Given the description of an element on the screen output the (x, y) to click on. 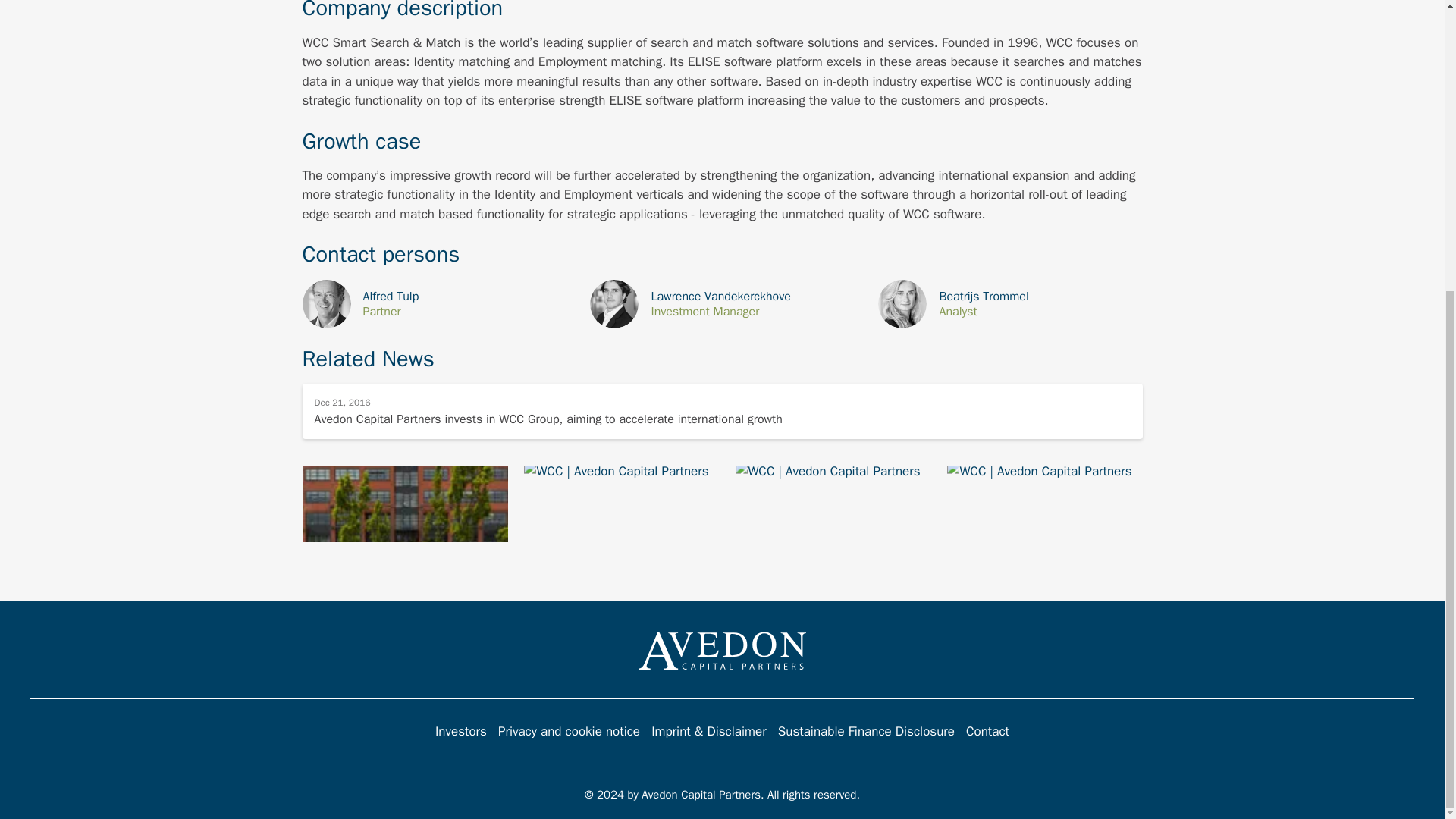
Show details... (433, 304)
Show details... (1009, 304)
Show details... (721, 304)
